Given the description of an element on the screen output the (x, y) to click on. 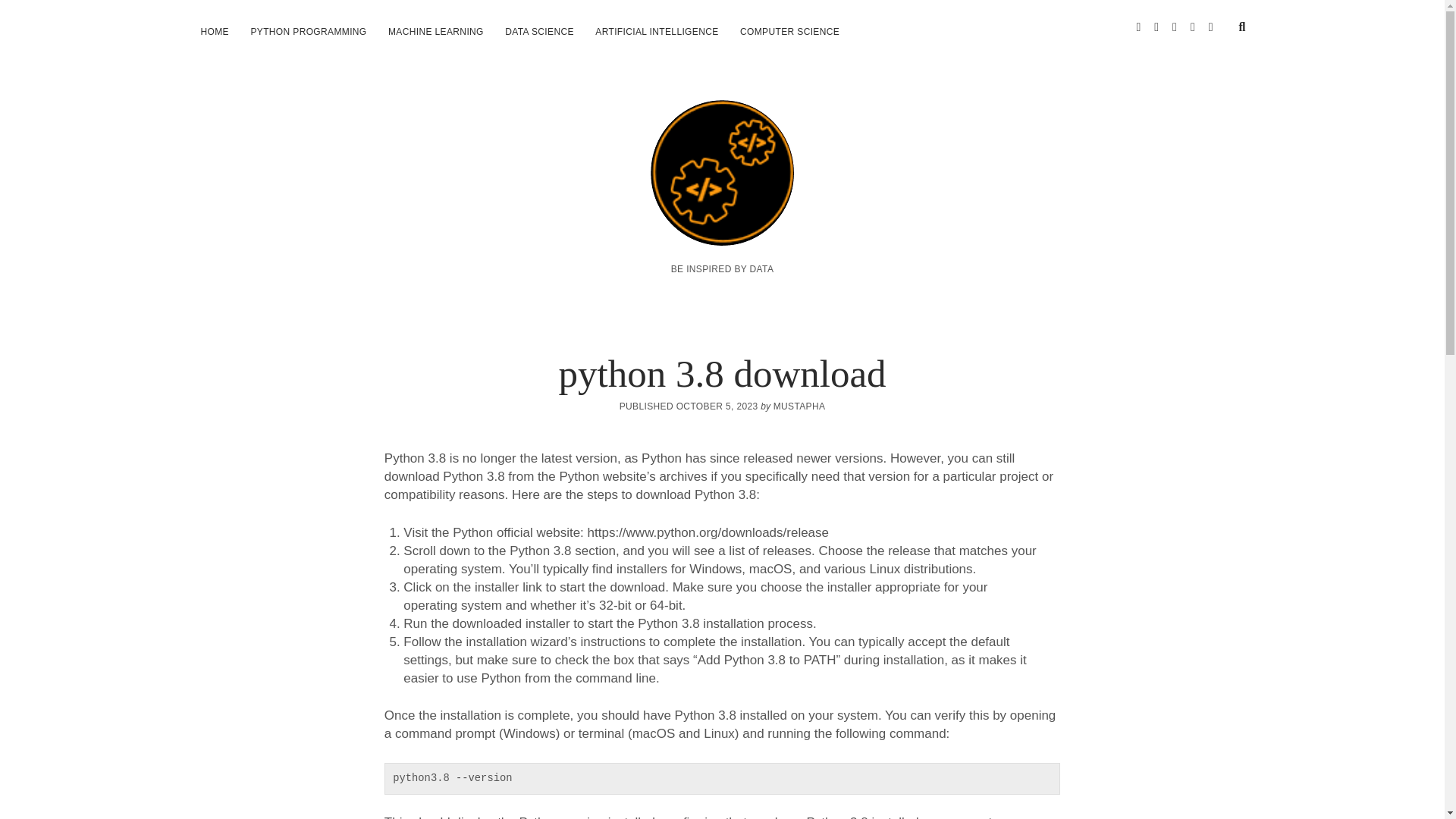
PYTHON PROGRAMMING (308, 31)
MACHINE LEARNING (435, 31)
HOME (213, 31)
DATA SCIENCE (539, 31)
A State Of Data (721, 227)
ARTIFICIAL INTELLIGENCE (656, 31)
COMPUTER SCIENCE (789, 31)
